Given the description of an element on the screen output the (x, y) to click on. 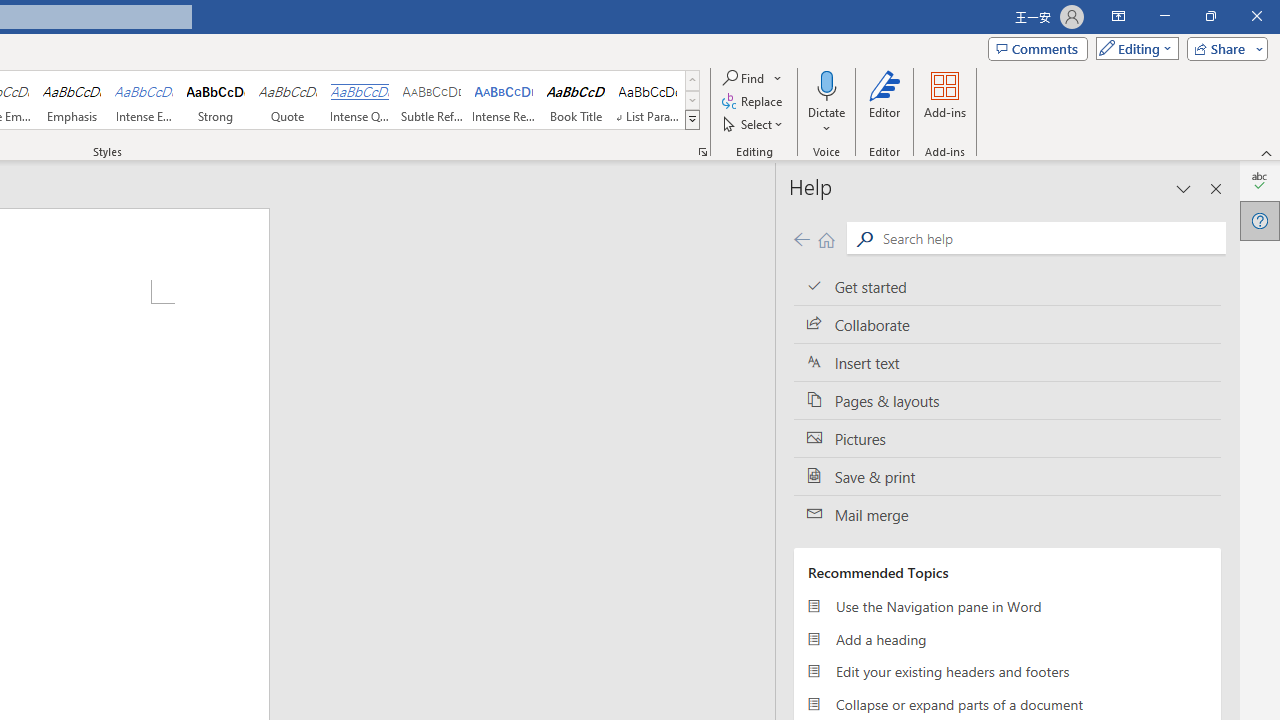
Share (1223, 48)
Collapse the Ribbon (1267, 152)
Styles... (702, 151)
Comments (1038, 48)
Mode (1133, 47)
Collaborate (1007, 325)
Class: NetUIImage (692, 119)
Pages & layouts (1007, 400)
Find (753, 78)
Editor (1260, 180)
Home (826, 238)
More Options (826, 121)
Mail merge (1007, 515)
Help (1260, 220)
